Given the description of an element on the screen output the (x, y) to click on. 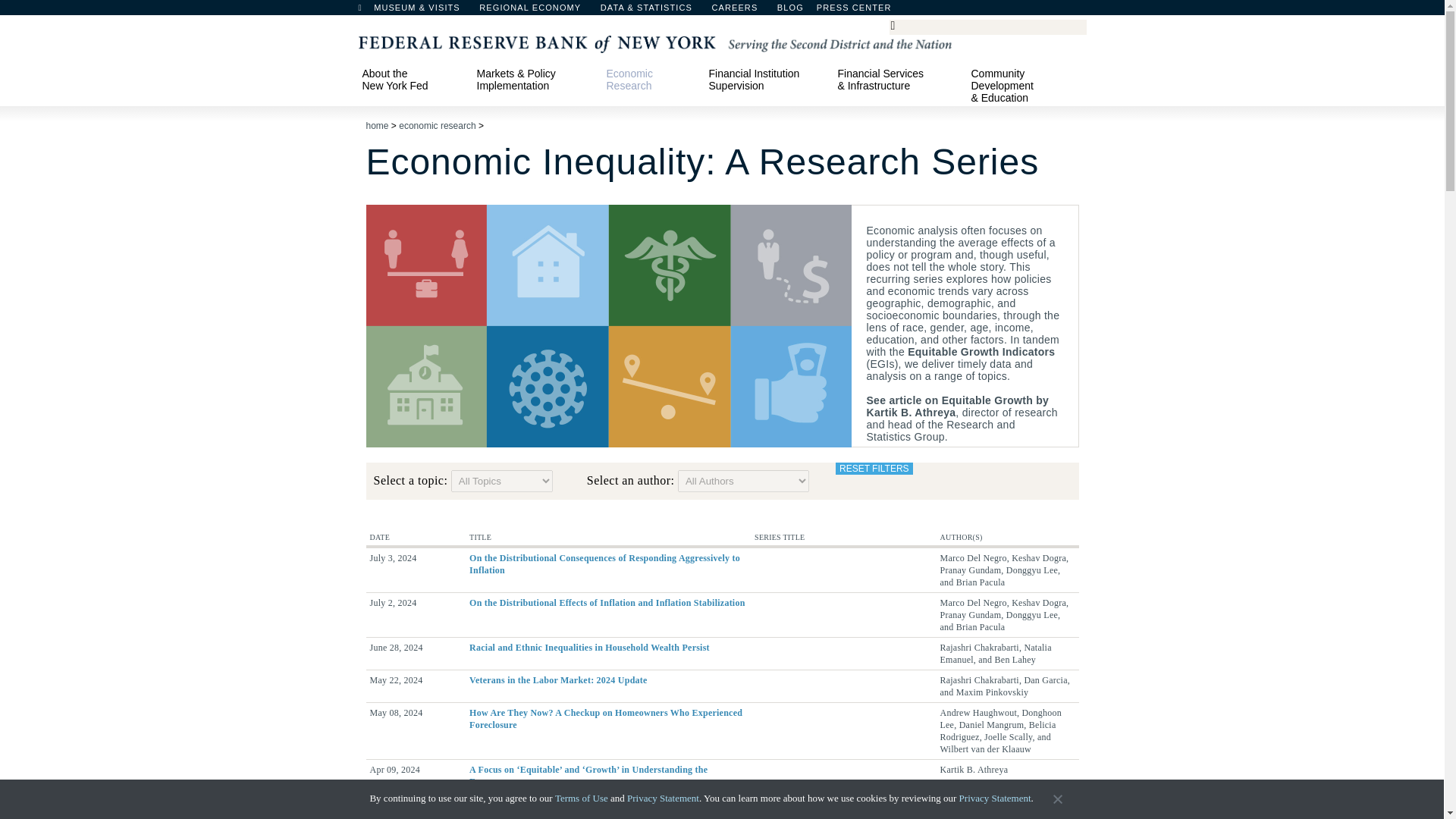
Home (367, 11)
Liberty Street Economics Blog (830, 11)
Search Box (985, 26)
About the New York Fed (411, 79)
Federal Reserve Bank of New York (654, 42)
PRESS CENTER (861, 11)
REGIONAL ECONOMY (537, 11)
Regional Economy (537, 11)
Search Form (987, 27)
Press Center (861, 11)
About the New York Fed (411, 79)
BLOG (830, 11)
CAREERS (742, 11)
Careers (742, 11)
